Given the description of an element on the screen output the (x, y) to click on. 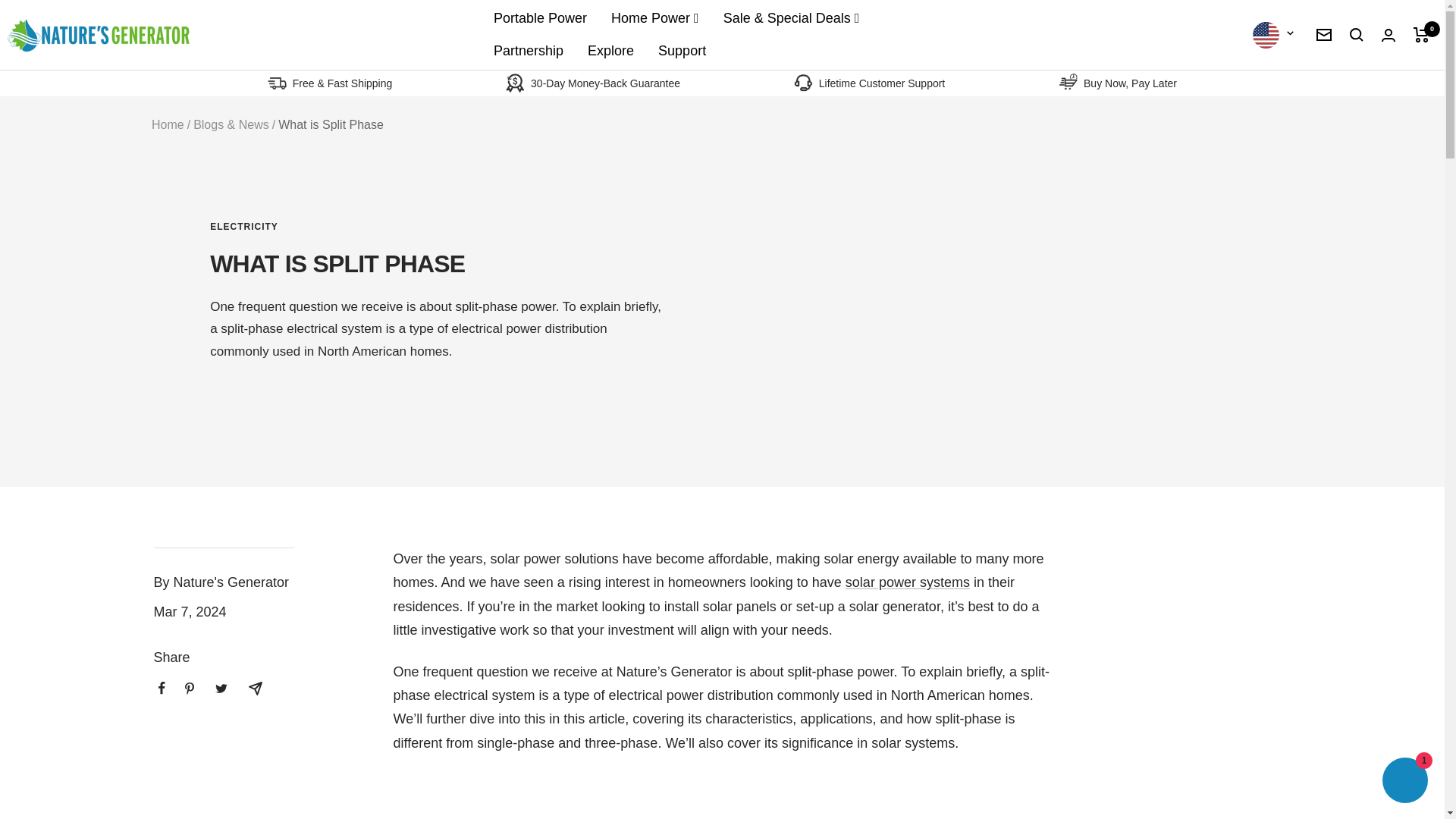
0 (1421, 34)
Portable Power (539, 18)
Partnership (528, 51)
Newsletter (1324, 34)
Support (682, 51)
US (1215, 203)
Nature's Generator (98, 35)
Home (167, 124)
solar power systems (907, 581)
ELECTRICITY (438, 226)
Shopify online store chat (1404, 781)
Nature's Generator Powerhouse Systems (907, 581)
PH (1215, 167)
Explore (610, 51)
